Given the description of an element on the screen output the (x, y) to click on. 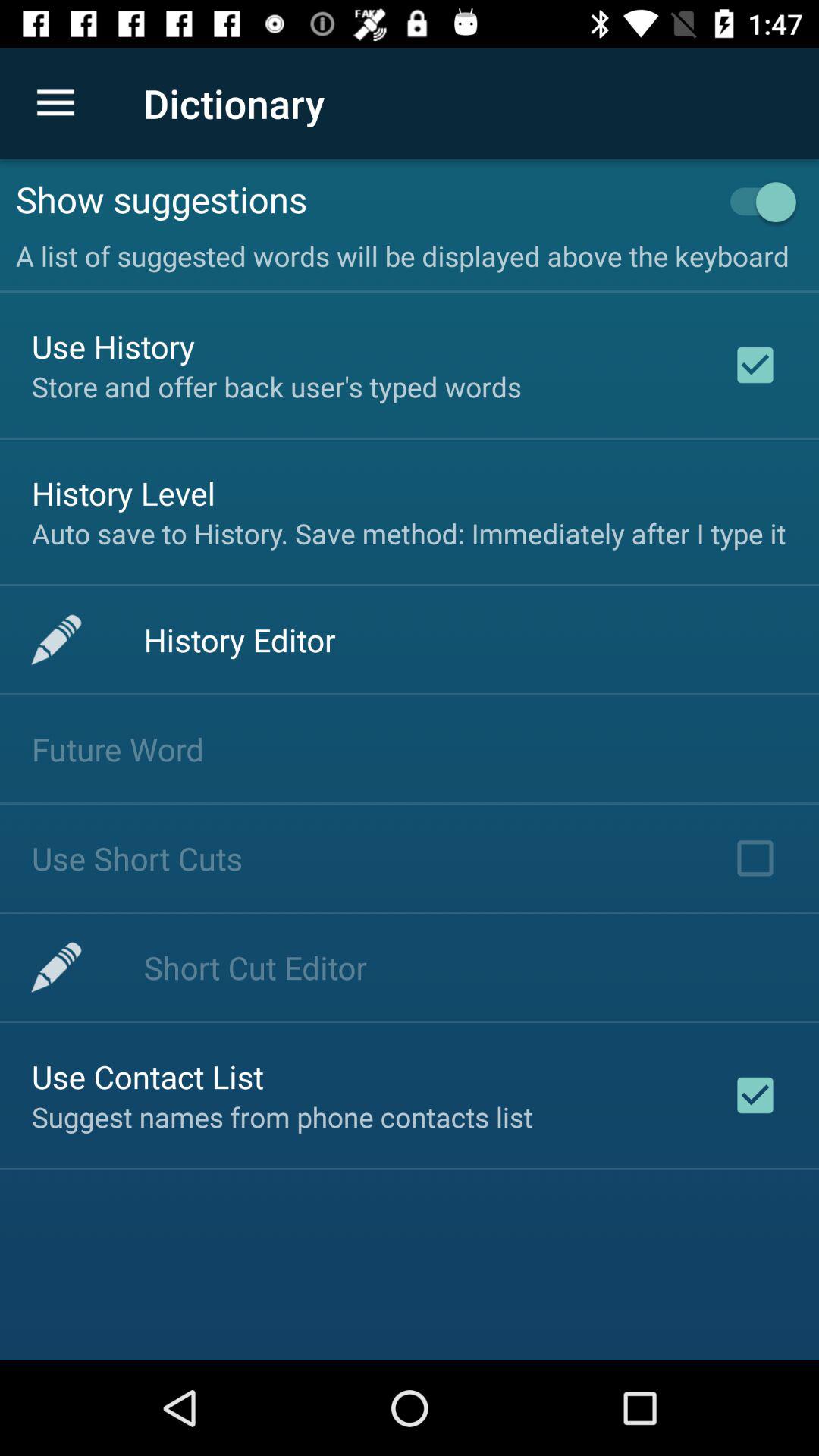
turn on icon above show suggestions item (55, 103)
